Given the description of an element on the screen output the (x, y) to click on. 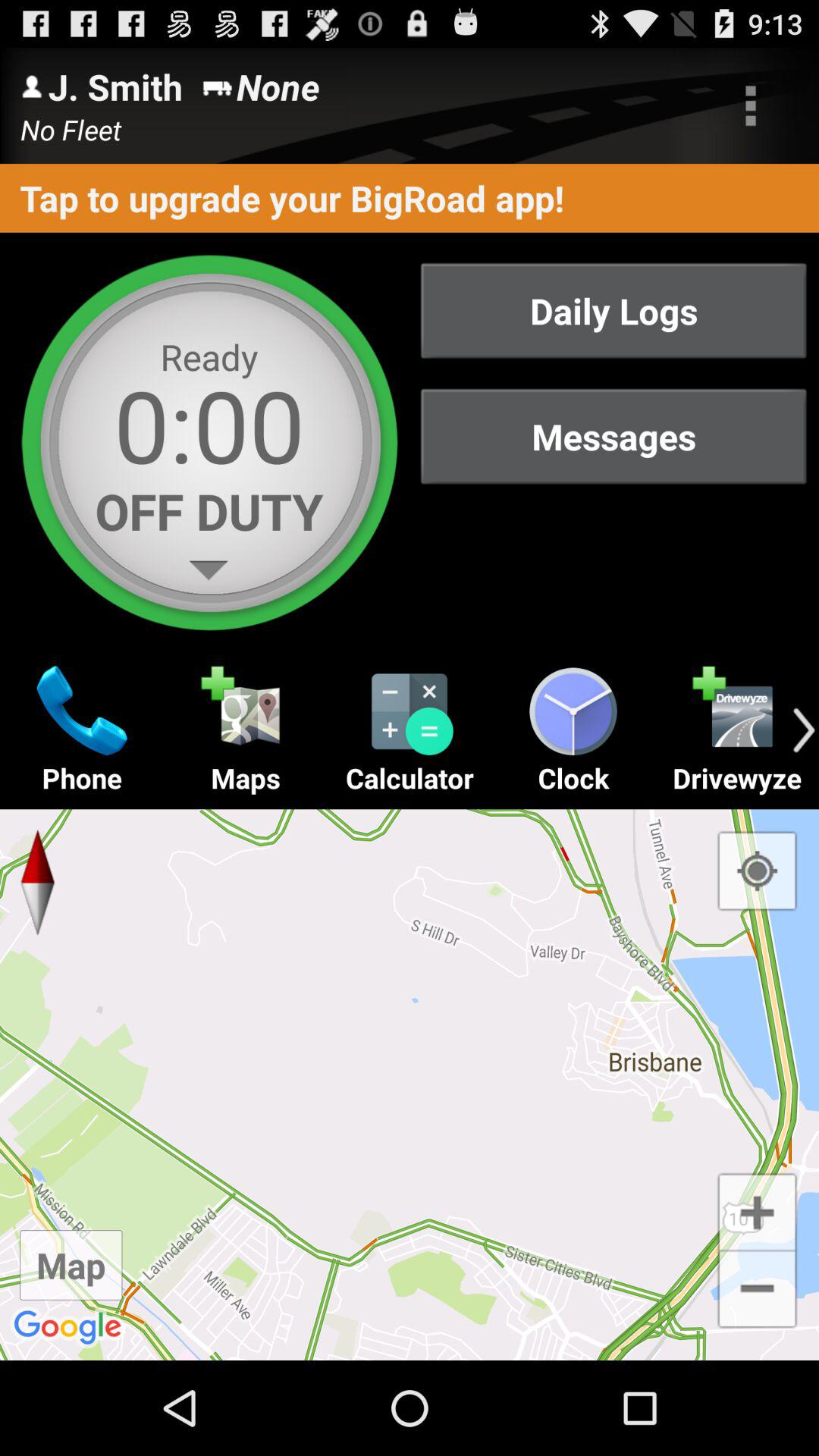
select item to the right of none  app (750, 105)
